Given the description of an element on the screen output the (x, y) to click on. 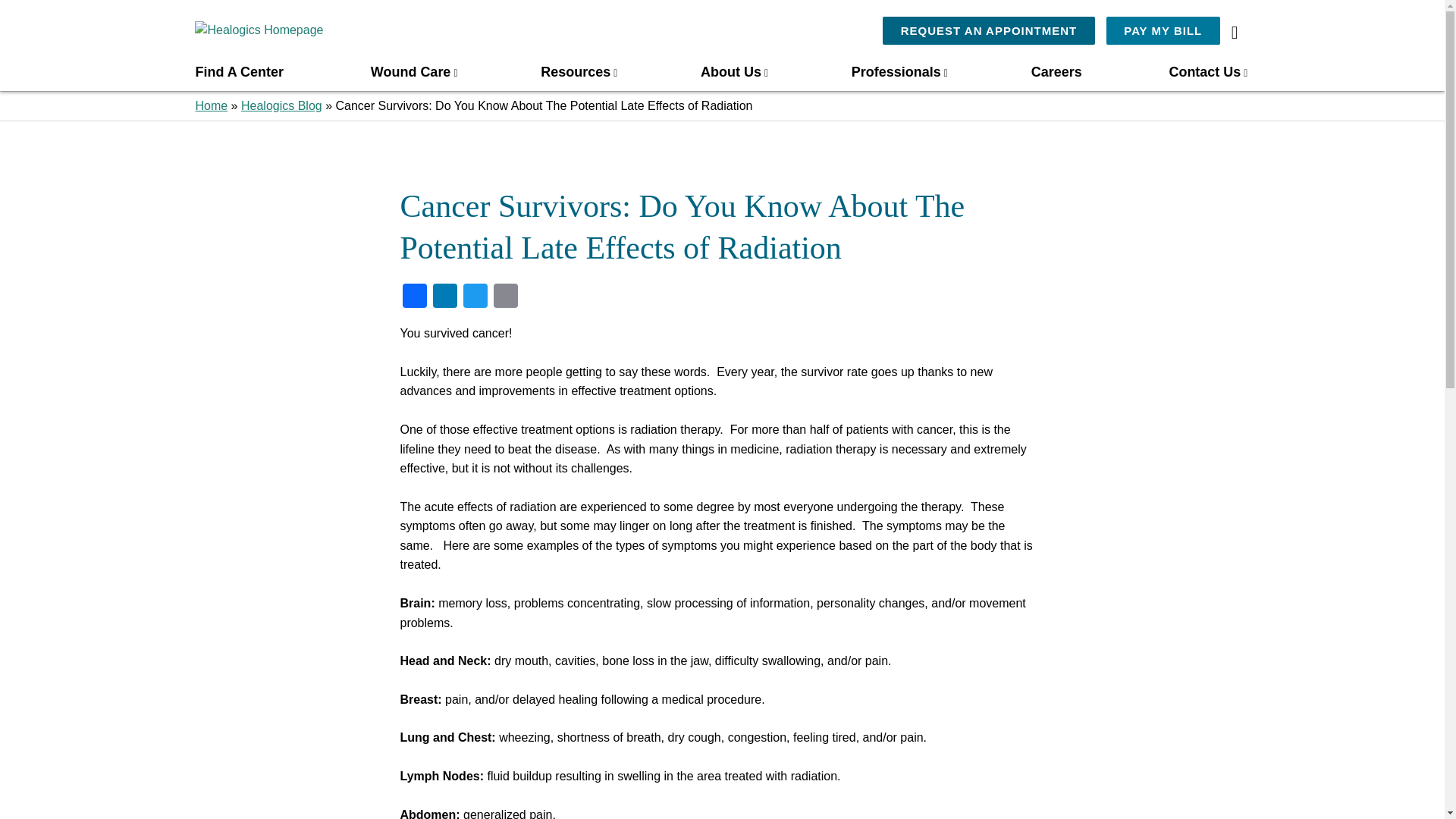
Twitter (475, 297)
Email (505, 297)
LinkedIn (444, 297)
Facebook (413, 297)
